Given the description of an element on the screen output the (x, y) to click on. 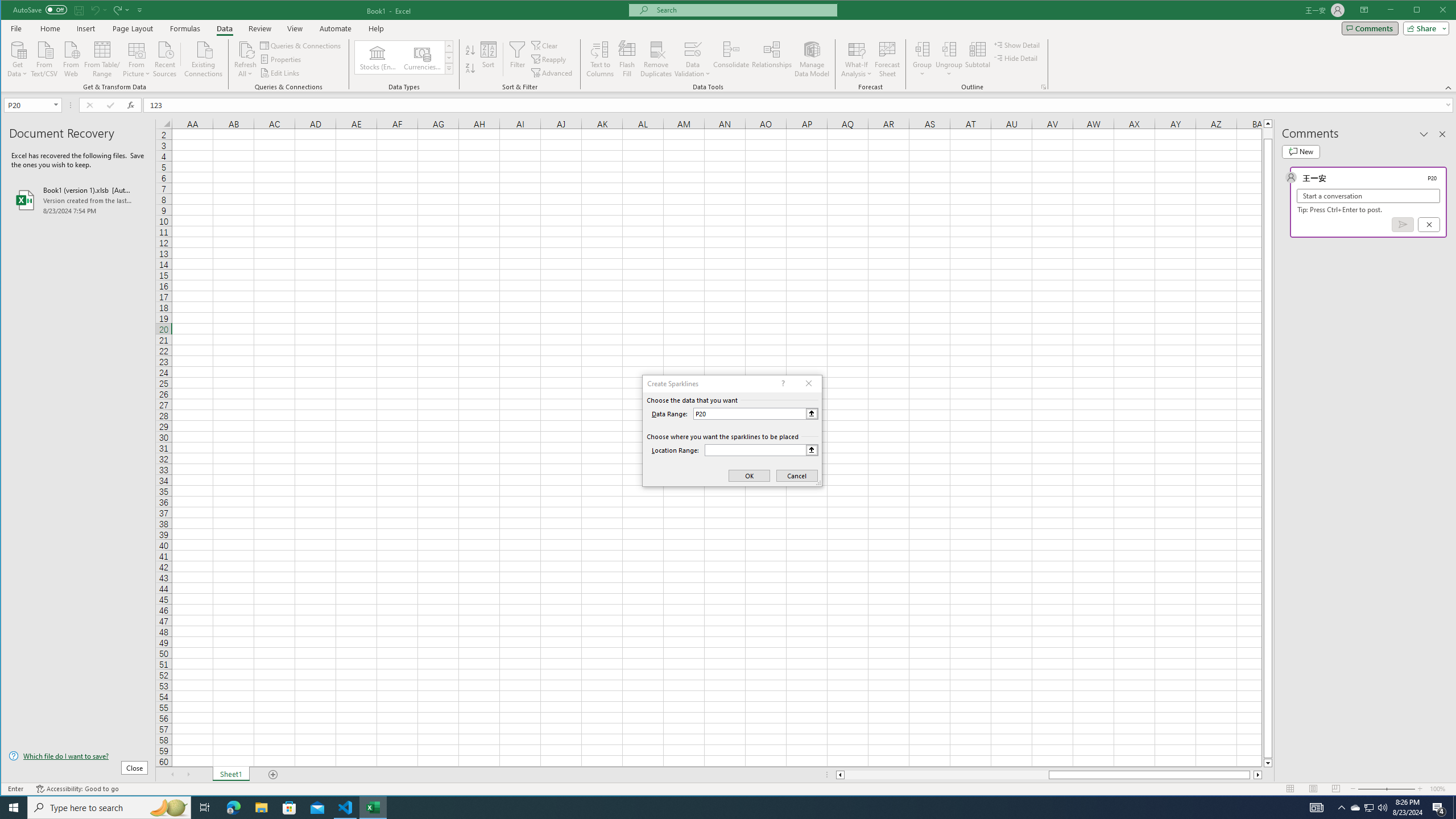
Page up (1267, 132)
Maximize (1432, 11)
